Given the description of an element on the screen output the (x, y) to click on. 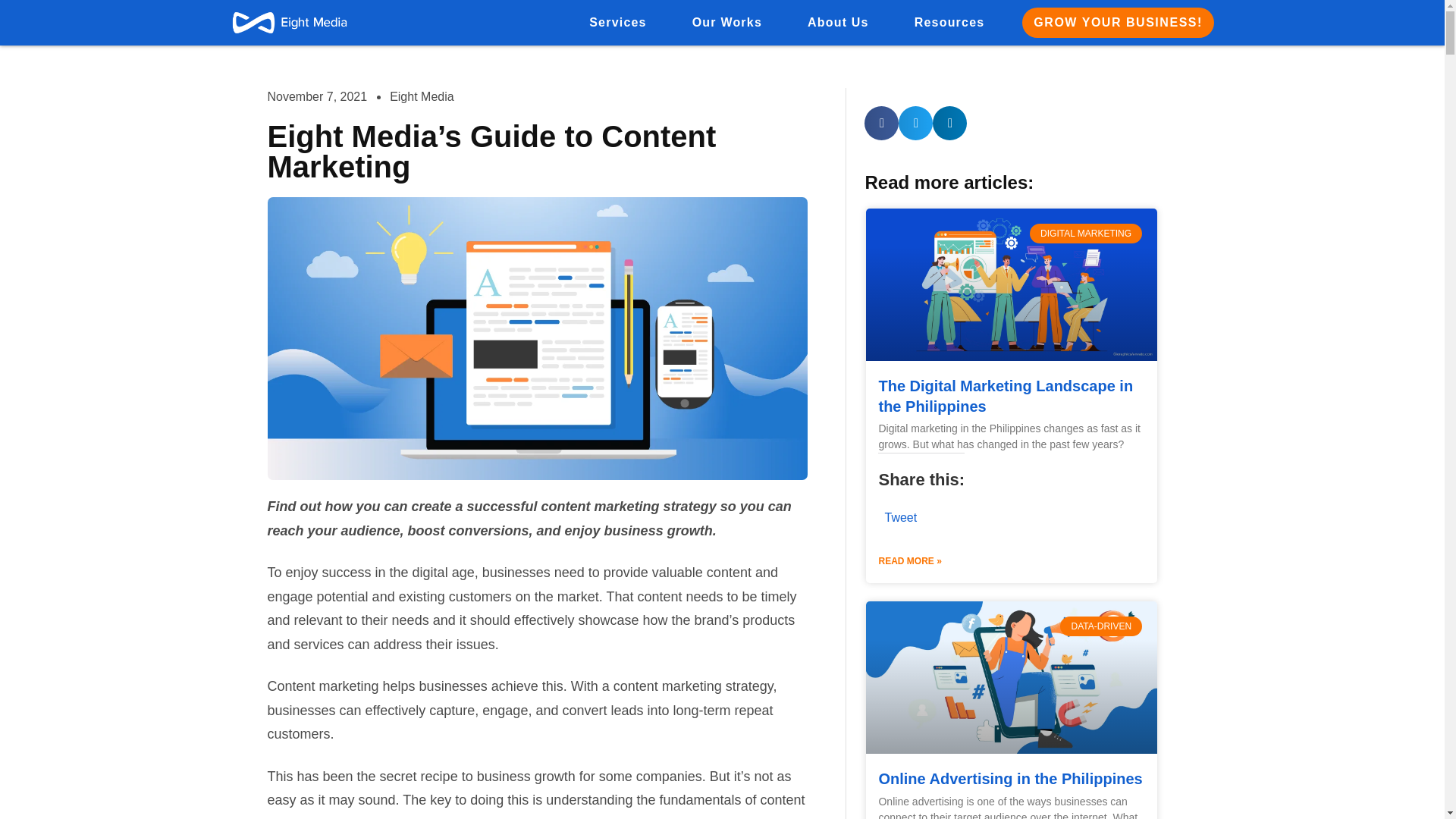
Resources (949, 22)
Services (616, 22)
Our Works (727, 22)
About Us (837, 22)
